Given the description of an element on the screen output the (x, y) to click on. 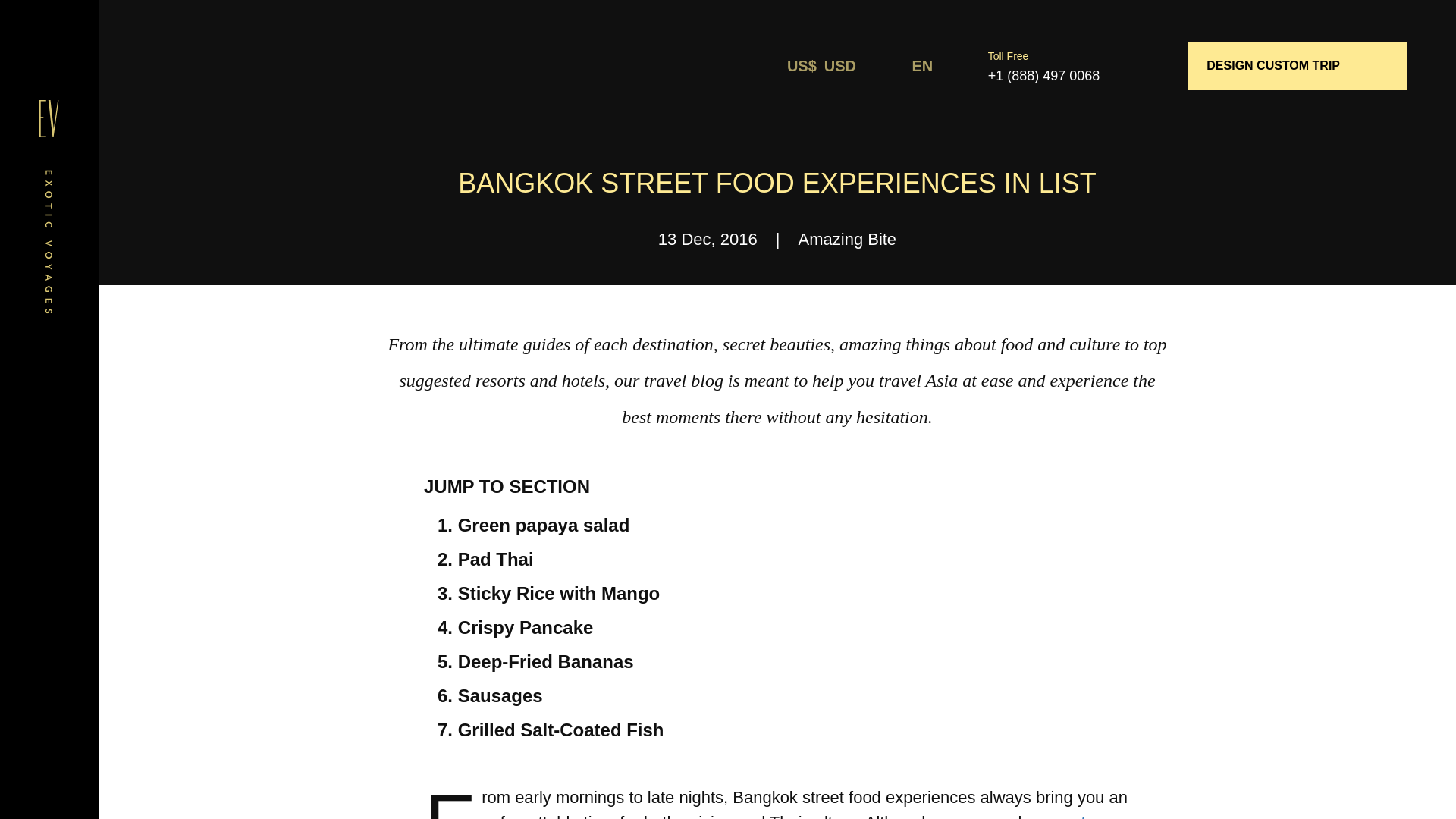
Signature Experiences (49, 632)
Home (49, 375)
EN (935, 65)
Destinations (49, 478)
DESIGN CUSTOM TRIP (1297, 66)
Hotel (49, 582)
Blog (49, 530)
About us (49, 427)
